Given the description of an element on the screen output the (x, y) to click on. 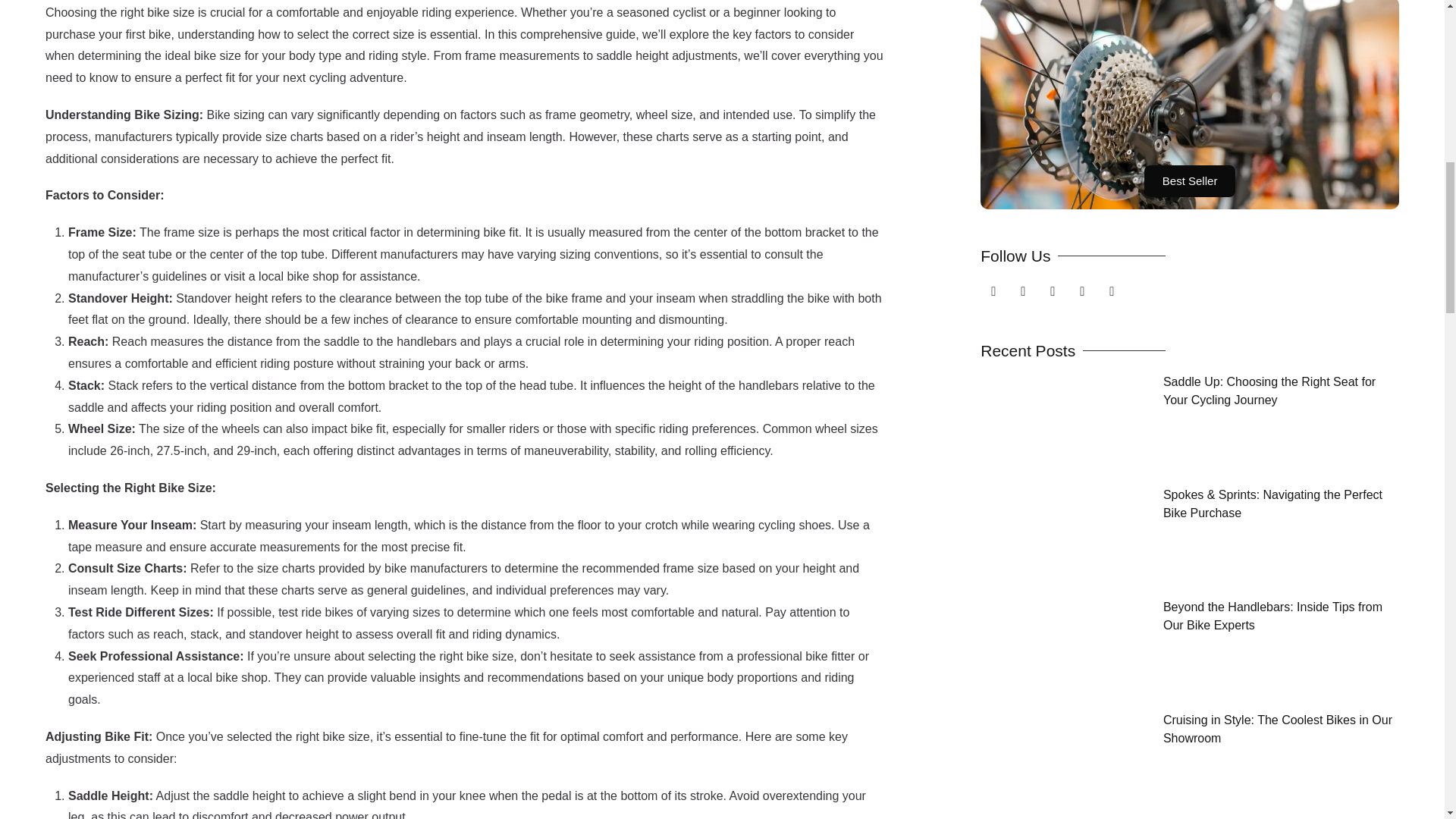
Saddle Up: Choosing the Right Seat for Your Cycling Journey (1269, 390)
Cruising in Style: The Coolest Bikes in Our Showroom (1277, 728)
Beyond the Handlebars: Inside Tips from Our Bike Experts (1272, 615)
Best Seller (1190, 181)
